Given the description of an element on the screen output the (x, y) to click on. 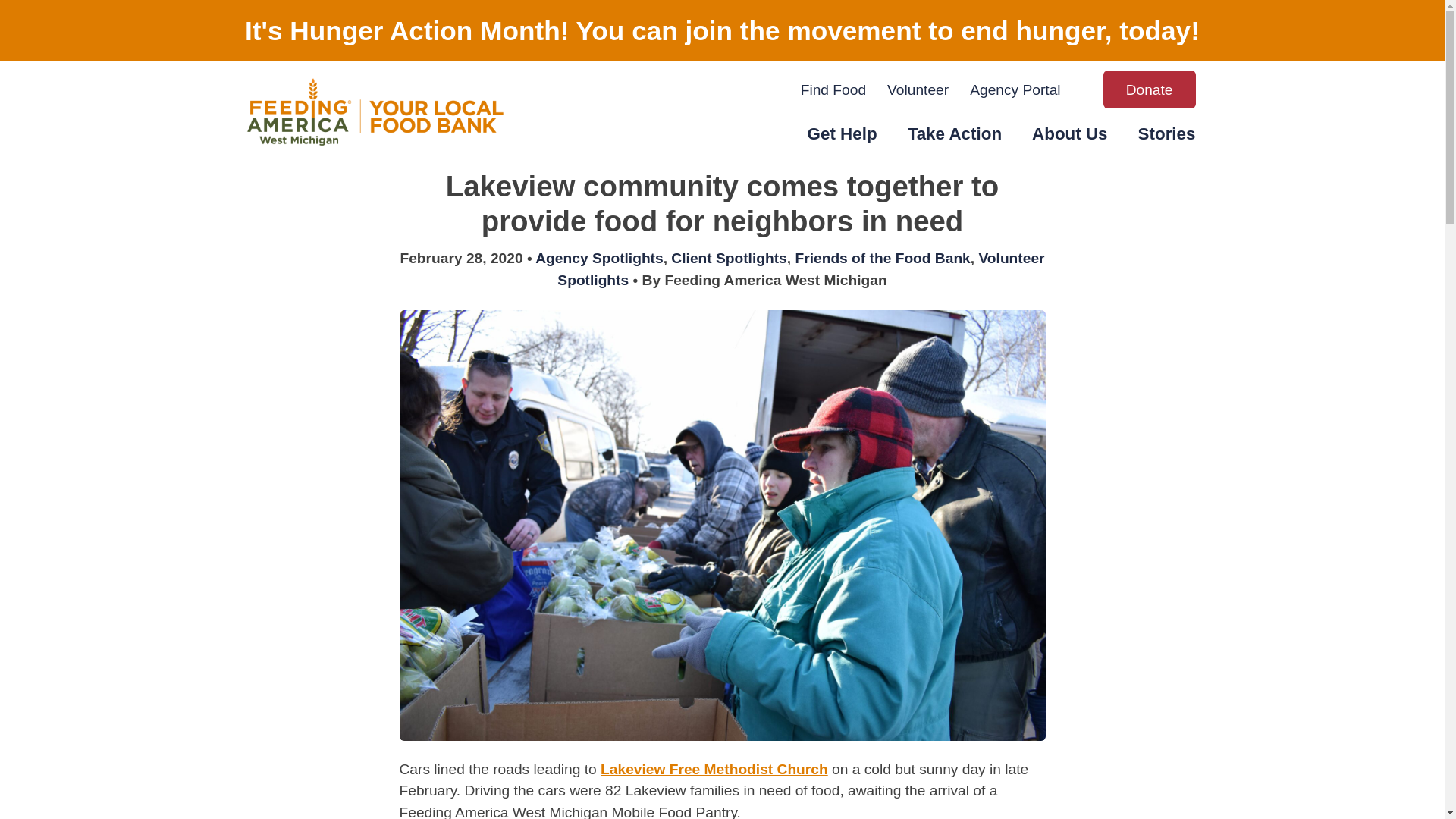
Find Food (833, 91)
Get Help (842, 135)
Volunteer (917, 91)
Take Action (954, 135)
Client Spotlights (728, 258)
Agency Spotlights (598, 258)
Donate (1149, 89)
Stories (1166, 135)
Agency Portal (1014, 91)
Feeding America West Michigan (350, 188)
